Given the description of an element on the screen output the (x, y) to click on. 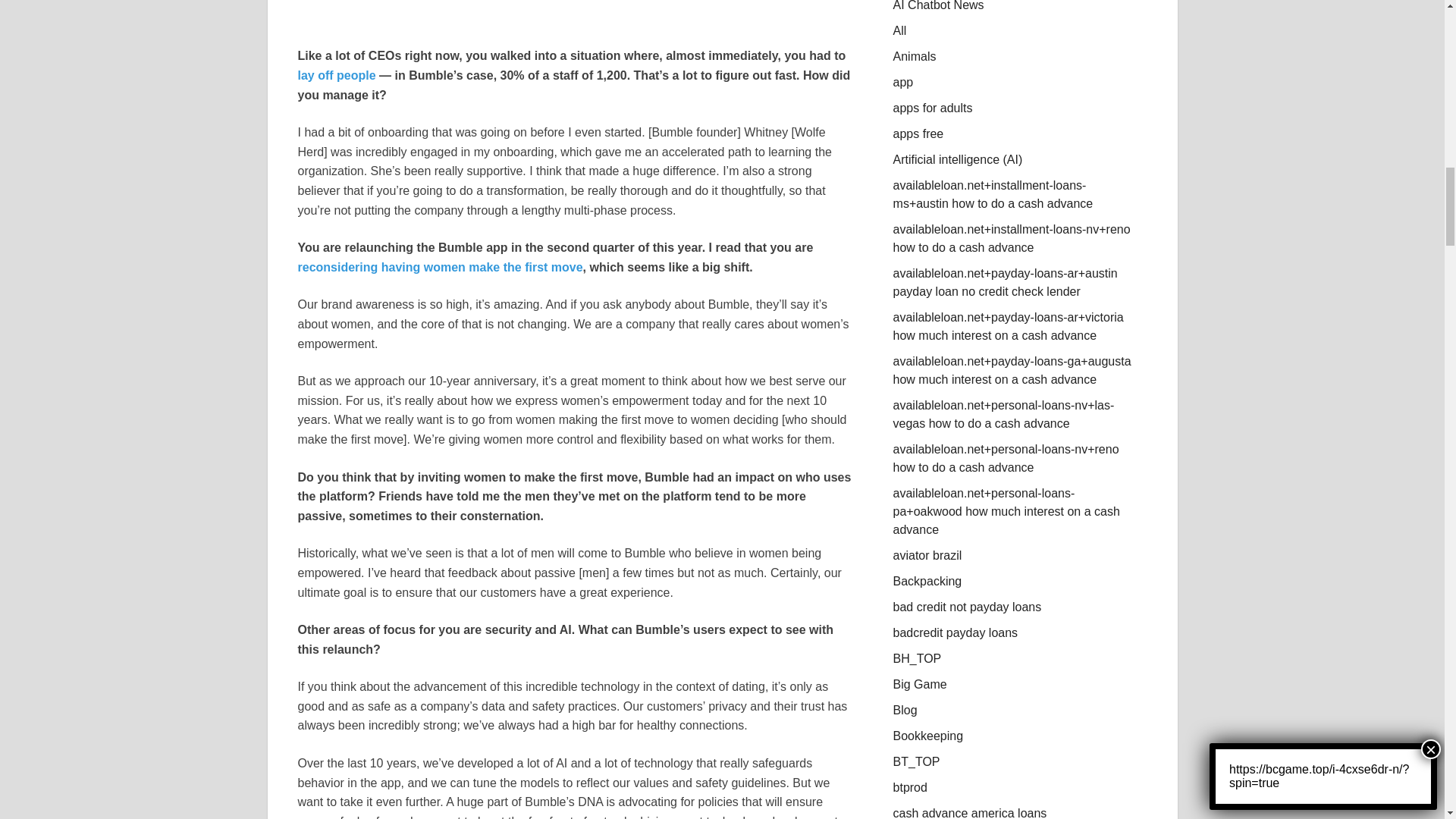
reconsidering having women make the first move (439, 267)
lay off people (336, 74)
